Given the description of an element on the screen output the (x, y) to click on. 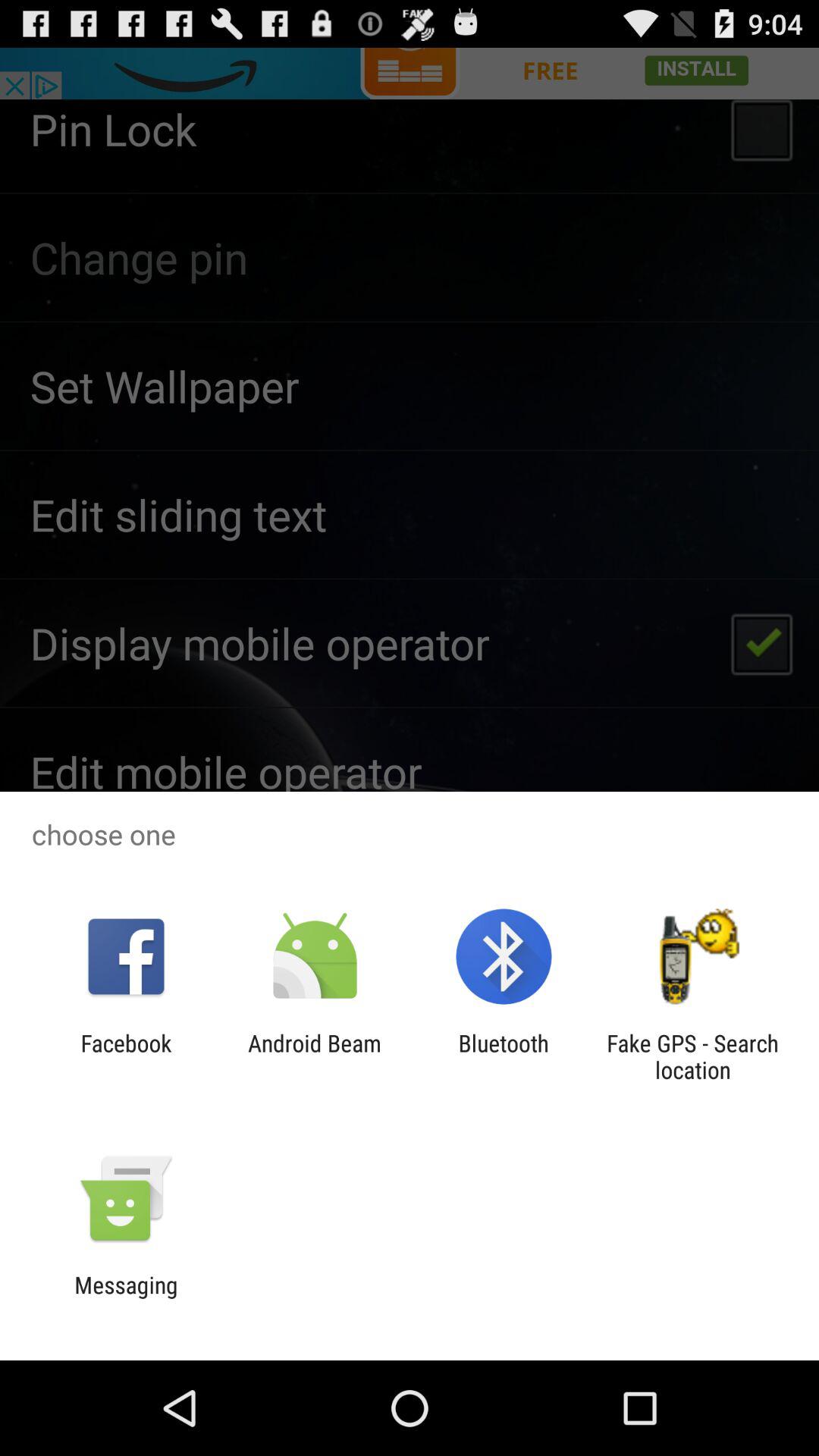
tap icon to the right of bluetooth icon (692, 1056)
